Given the description of an element on the screen output the (x, y) to click on. 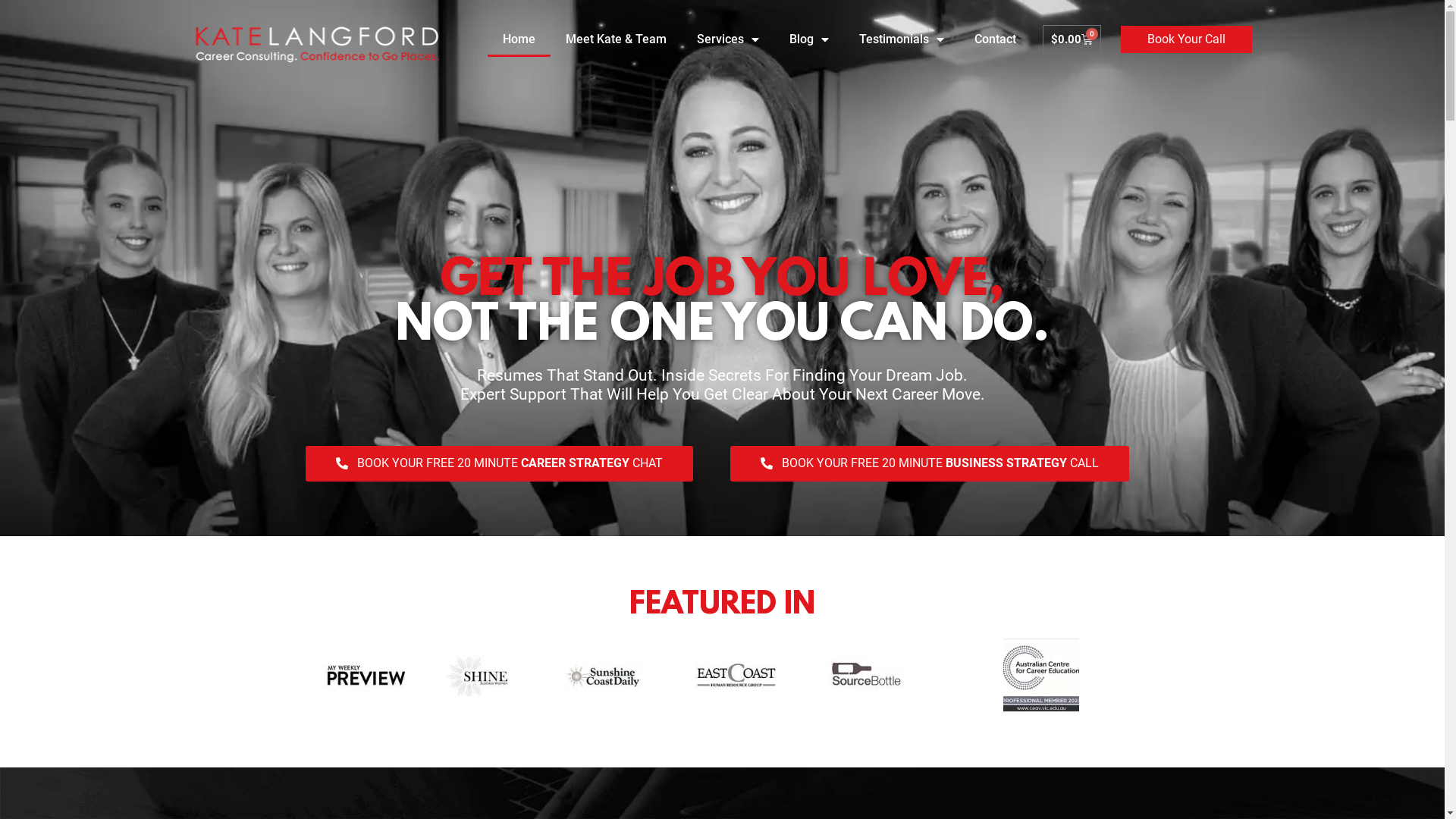
acce_email_prof_member_signature_2023 BW Element type: hover (1041, 676)
Home Element type: text (518, 38)
Book Your Call Element type: text (1186, 39)
Contact Element type: text (995, 38)
BOOK YOUR FREE 20 MINUTE CAREER STRATEGY CHAT Element type: text (498, 463)
Meet Kate & Team Element type: text (615, 38)
BOOK YOUR FREE 20 MINUTE BUSINESS STRATEGY CALL Element type: text (928, 463)
Testimonials Element type: text (901, 38)
Services Element type: text (727, 38)
Blog Element type: text (809, 38)
$0.00
0 Element type: text (1071, 39)
